Given the description of an element on the screen output the (x, y) to click on. 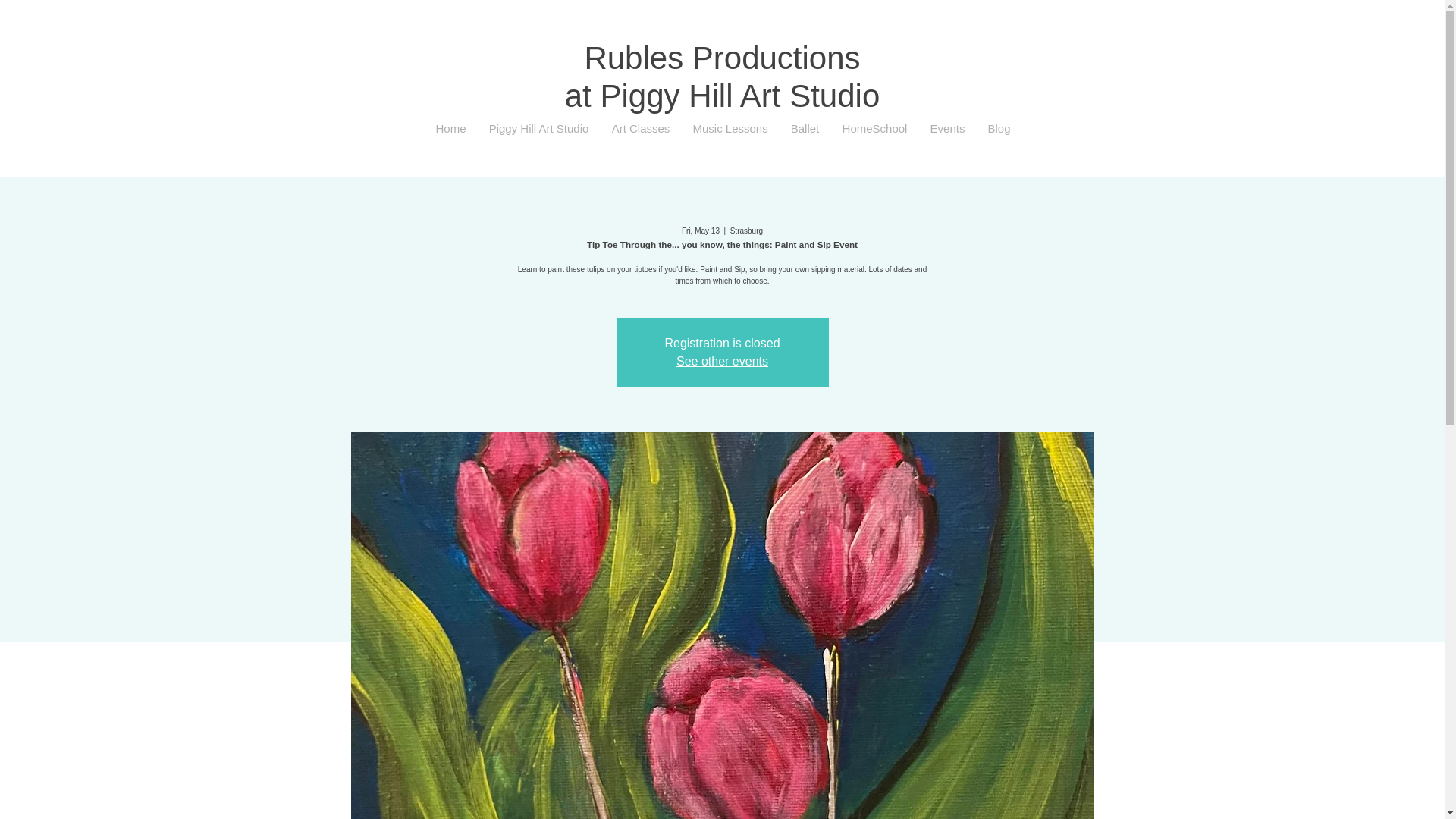
Home (451, 128)
Events (947, 128)
Music Lessons (729, 128)
Ballet (804, 128)
Art Classes (640, 128)
Piggy Hill Art Studio (538, 128)
See other events (722, 360)
HomeSchool (874, 128)
Blog (999, 128)
